Given the description of an element on the screen output the (x, y) to click on. 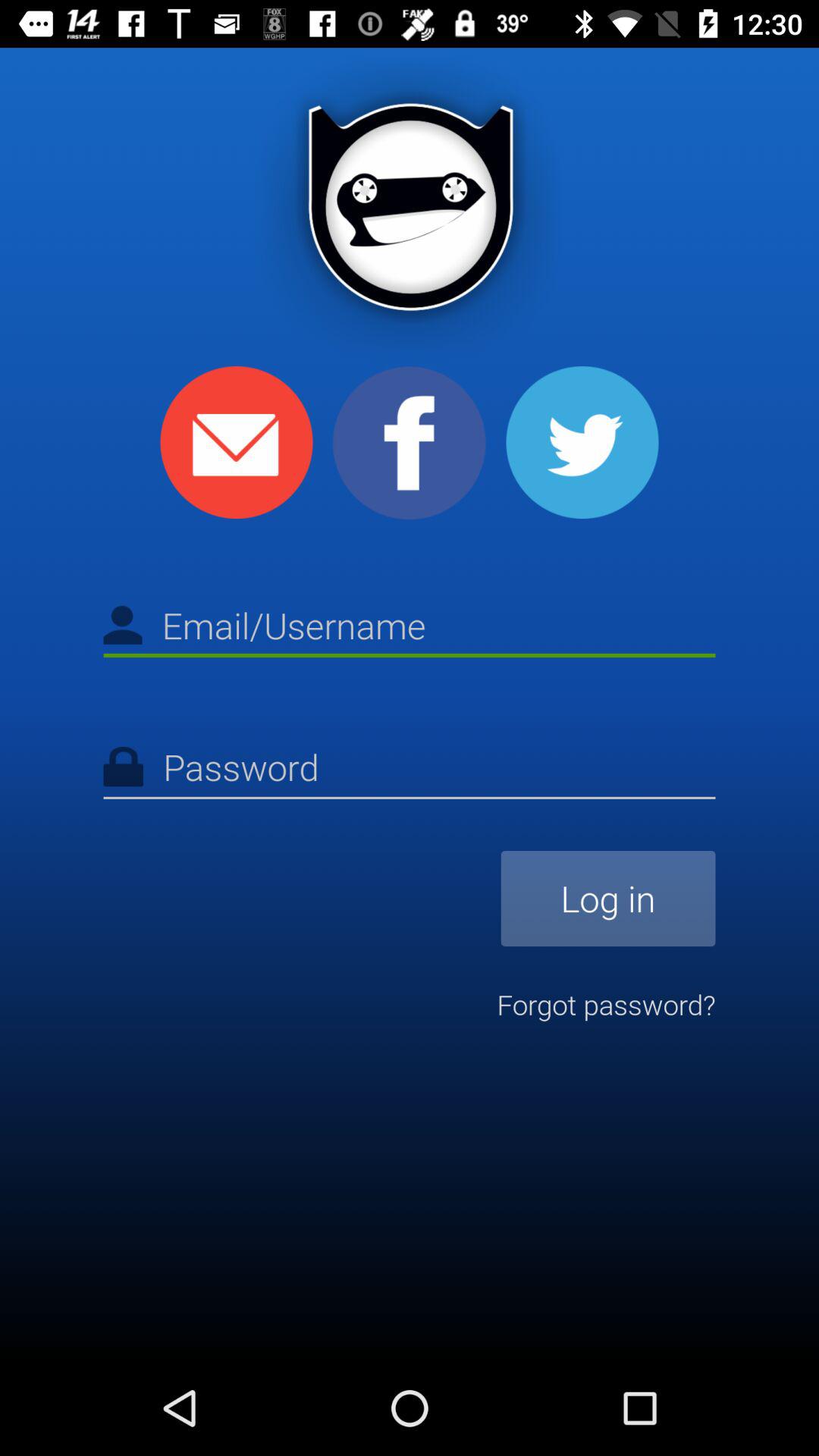
open log in item (608, 898)
